Given the description of an element on the screen output the (x, y) to click on. 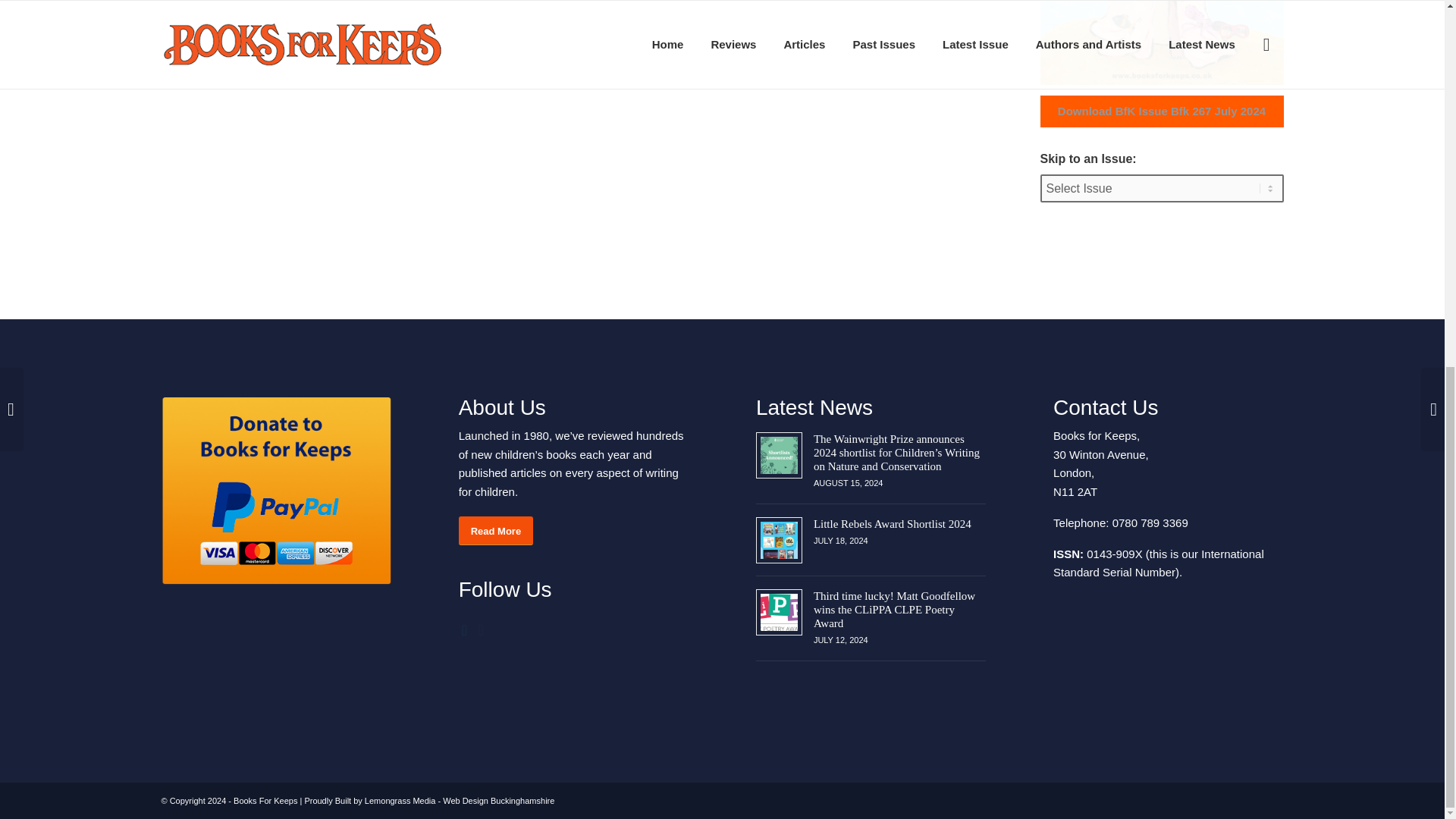
Read More (495, 531)
Link to: Little Rebels Award Shortlist 2024 (778, 539)
Download BfK Issue Bfk 267 July 2024 (1162, 111)
PayPal - The safer, easier way to pay online! (275, 490)
Little Rebels Award Shortlist 2024 (892, 523)
